Given the description of an element on the screen output the (x, y) to click on. 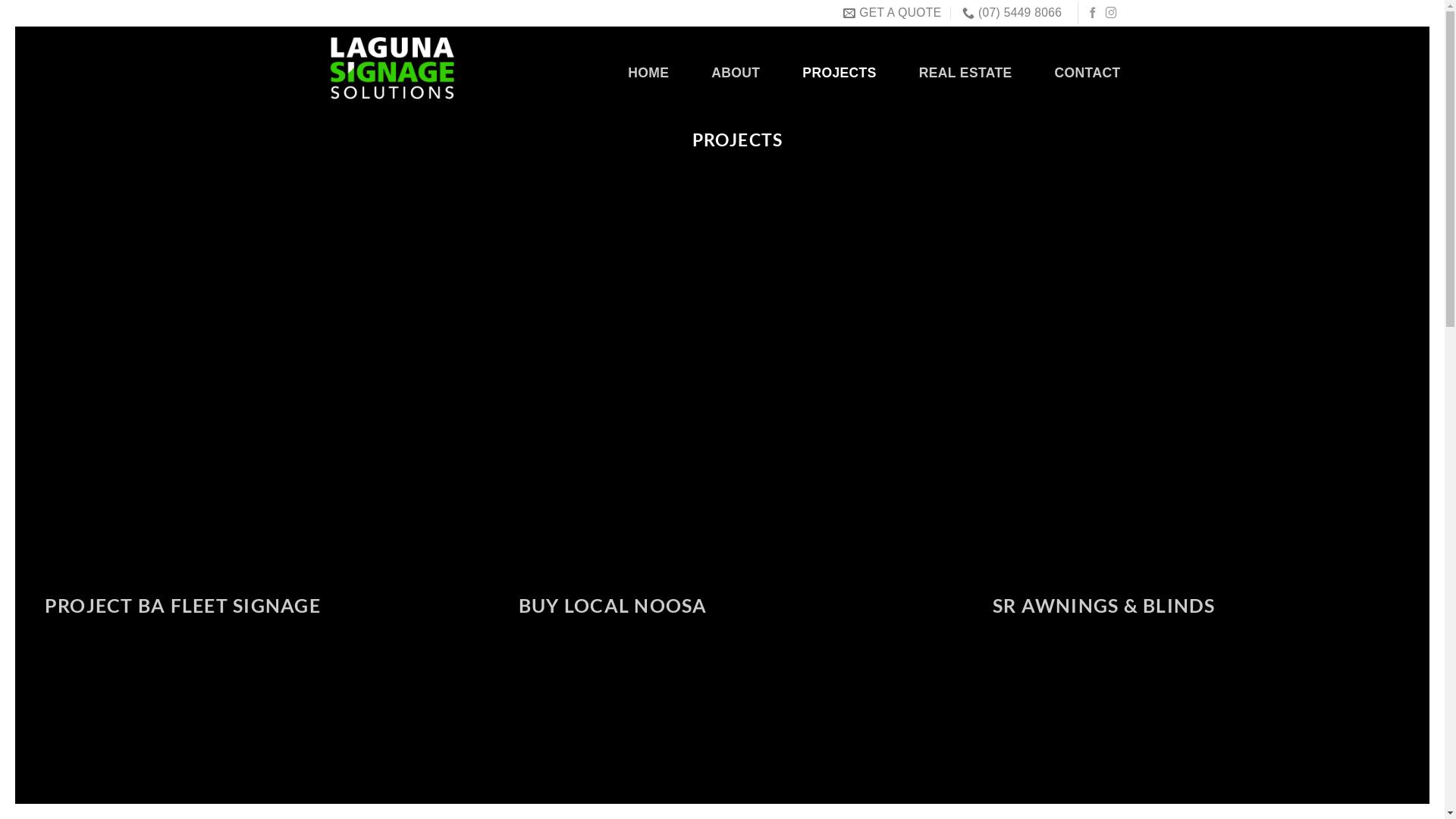
Laguna Signage Solutions - Noosa lagunasigns.com.au Element type: hover (391, 67)
(07) 5449 8066 Element type: text (1012, 13)
Follow on Facebook Element type: hover (1092, 13)
REAL ESTATE Element type: text (965, 72)
PROJECT BA FLEET SIGNAGE Element type: text (248, 426)
HOME Element type: text (647, 72)
GET A QUOTE Element type: text (892, 13)
CONTACT Element type: text (1087, 72)
BUY LOCAL NOOSA Element type: text (722, 426)
Follow on Instagram Element type: hover (1111, 13)
ABOUT Element type: text (735, 72)
SR AWNINGS & BLINDS Element type: text (1196, 426)
PROJECTS Element type: text (838, 72)
